Given the description of an element on the screen output the (x, y) to click on. 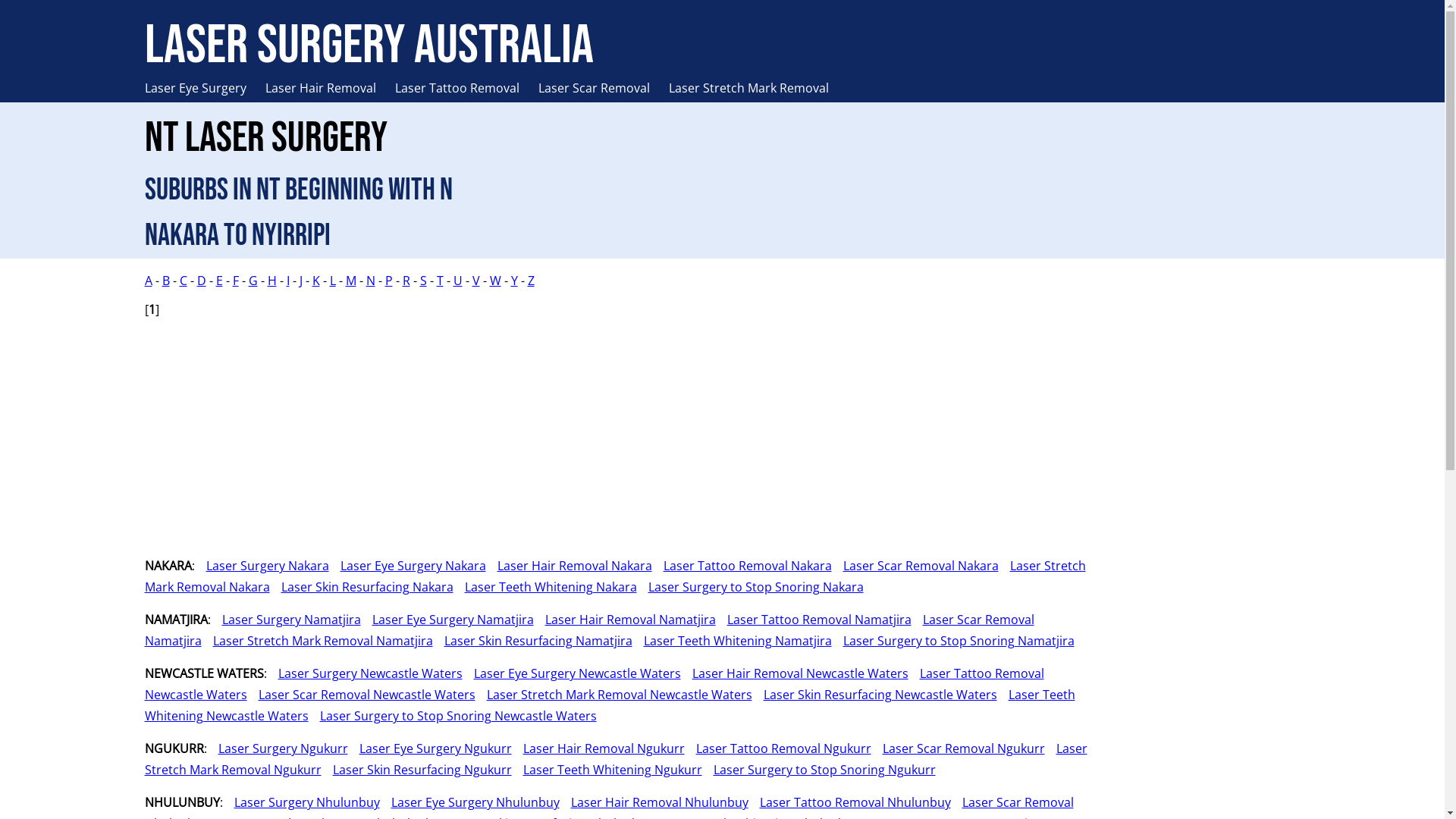
Laser Tattoo Removal Nakara Element type: text (741, 565)
Laser Hair Removal Nakara Element type: text (568, 565)
Laser Scar Removal Ngukurr Element type: text (957, 748)
N Element type: text (369, 280)
Laser Tattoo Removal Newcastle Waters Element type: text (593, 683)
Laser Hair Removal Newcastle Waters Element type: text (794, 673)
Laser Eye Surgery Newcastle Waters Element type: text (571, 673)
L Element type: text (332, 280)
Laser Teeth Whitening Namatjira Element type: text (731, 640)
Laser Scar Removal Element type: text (603, 87)
Laser Teeth Whitening Newcastle Waters Element type: text (609, 705)
NT Laser Surgery Element type: text (265, 137)
D Element type: text (201, 280)
Laser Tattoo Removal Element type: text (465, 87)
V Element type: text (475, 280)
Laser Skin Resurfacing Ngukurr Element type: text (416, 769)
T Element type: text (439, 280)
Laser Stretch Mark Removal Ngukurr Element type: text (615, 759)
Laser Hair Removal Namatjira Element type: text (624, 619)
C Element type: text (182, 280)
F Element type: text (235, 280)
Laser Hair Removal Element type: text (330, 87)
E Element type: text (218, 280)
J Element type: text (299, 280)
Laser Stretch Mark Removal Element type: text (757, 87)
R Element type: text (405, 280)
M Element type: text (350, 280)
Laser Surgery Ngukurr Element type: text (276, 748)
Laser Surgery Newcastle Waters Element type: text (364, 673)
Laser Surgery Australia Element type: text (368, 45)
Laser Eye Surgery Ngukurr Element type: text (429, 748)
Laser Skin Resurfacing Nakara Element type: text (361, 586)
W Element type: text (495, 280)
G Element type: text (252, 280)
Laser Scar Removal Nakara Element type: text (914, 565)
Laser Surgery Namatjira Element type: text (285, 619)
Laser Stretch Mark Removal Nakara Element type: text (614, 576)
Laser Tattoo Removal Namatjira Element type: text (813, 619)
Laser Eye Surgery Nhulunbuy Element type: text (468, 801)
Laser Stretch Mark Removal Newcastle Waters Element type: text (612, 694)
Laser Scar Removal Newcastle Waters Element type: text (361, 694)
K Element type: text (316, 280)
Laser Teeth Whitening Nakara Element type: text (545, 586)
Laser Skin Resurfacing Namatjira Element type: text (531, 640)
B Element type: text (165, 280)
Laser Stretch Mark Removal Namatjira Element type: text (317, 640)
Laser Surgery to Stop Snoring Ngukurr Element type: text (818, 769)
U Element type: text (457, 280)
Laser Scar Removal Namatjira Element type: text (588, 630)
Laser Eye Surgery Namatjira Element type: text (446, 619)
Laser Hair Removal Ngukurr Element type: text (597, 748)
H Element type: text (271, 280)
Laser Skin Resurfacing Newcastle Waters Element type: text (874, 694)
Laser Eye Surgery Element type: text (204, 87)
A Element type: text (147, 280)
P Element type: text (388, 280)
Advertisement Element type: hover (599, 437)
Laser Surgery to Stop Snoring Namatjira Element type: text (952, 640)
Laser Teeth Whitening Ngukurr Element type: text (606, 769)
S Element type: text (423, 280)
Z Element type: text (530, 280)
Laser Surgery to Stop Snoring Newcastle Waters Element type: text (451, 715)
Laser Tattoo Removal Ngukurr Element type: text (777, 748)
Laser Eye Surgery Nakara Element type: text (407, 565)
Laser Surgery Nakara Element type: text (261, 565)
Laser Surgery Nhulunbuy Element type: text (300, 801)
Laser Surgery to Stop Snoring Nakara Element type: text (750, 586)
Y Element type: text (514, 280)
Advertisement Element type: hover (1211, 496)
Laser Hair Removal Nhulunbuy Element type: text (653, 801)
Laser Tattoo Removal Nhulunbuy Element type: text (848, 801)
I Element type: text (287, 280)
